Given the description of an element on the screen output the (x, y) to click on. 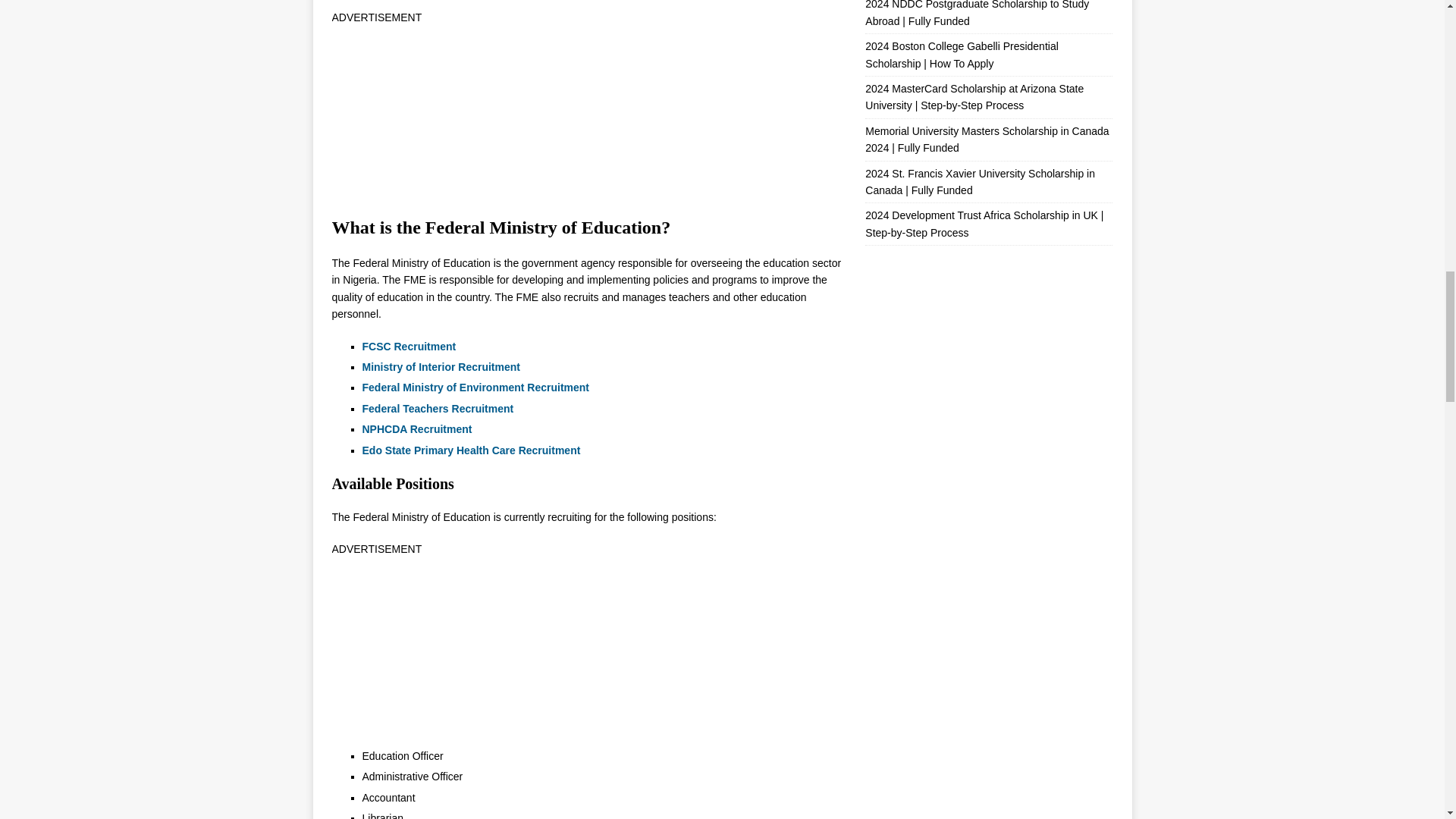
Ministry of Interior Recruitment  (442, 367)
NPHCDA Recruitment  (419, 428)
Edo State Primary Health Care Recruitment  (472, 450)
Federal Teachers Recruitment  (439, 408)
FCSC Recruitment  (411, 346)
Federal Ministry of Environment Recruitment  (477, 387)
